Given the description of an element on the screen output the (x, y) to click on. 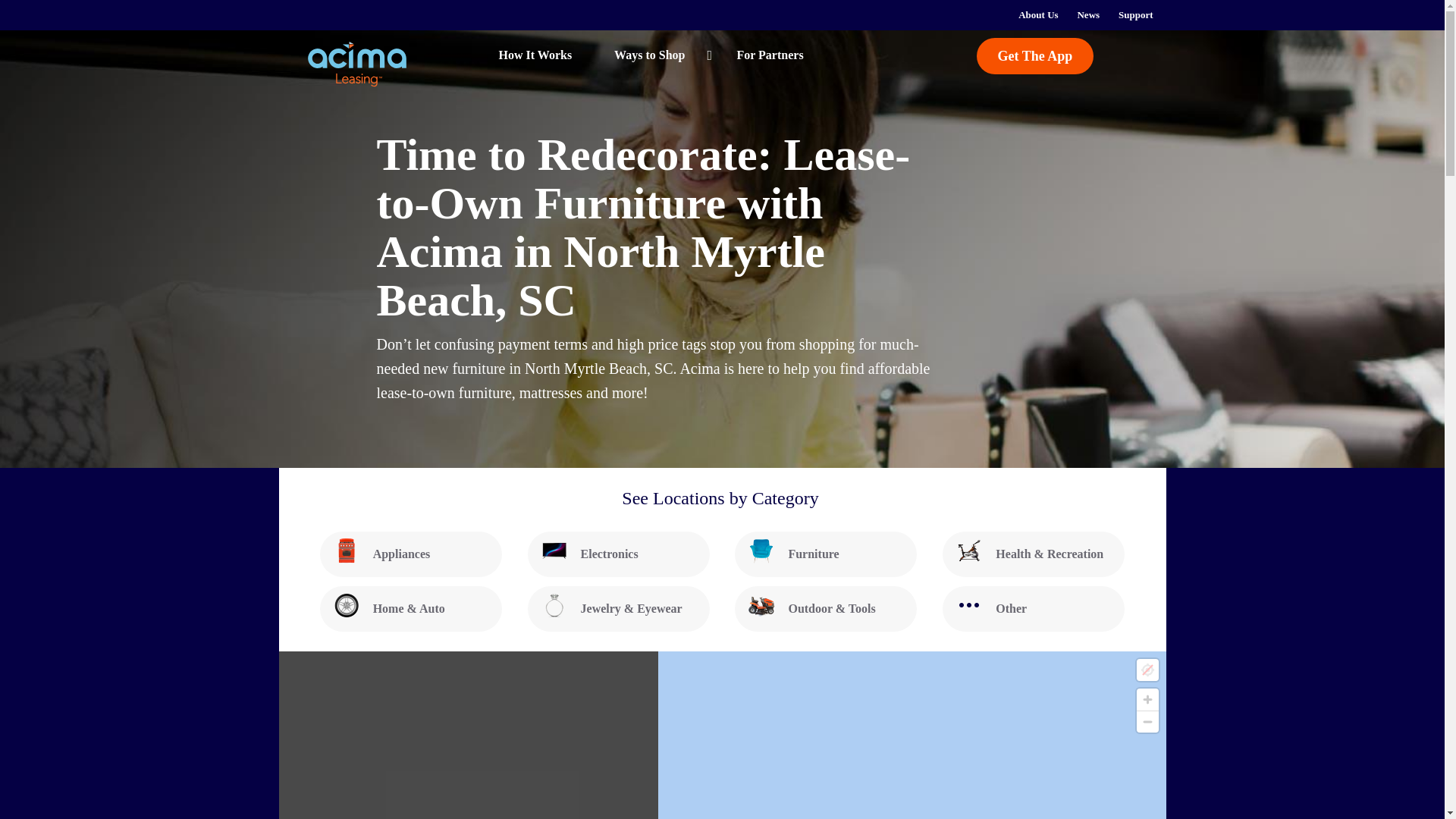
For Partners (769, 54)
Acima (358, 63)
Zoom in (1146, 699)
Ways to Shop (653, 54)
Support (1136, 15)
Electronics (618, 554)
About Us (1037, 15)
Zoom out (1146, 721)
Appliances (411, 554)
Find my location (1146, 669)
Furniture (826, 554)
Get The App (1035, 55)
How It Works (516, 54)
News (1088, 15)
